Given the description of an element on the screen output the (x, y) to click on. 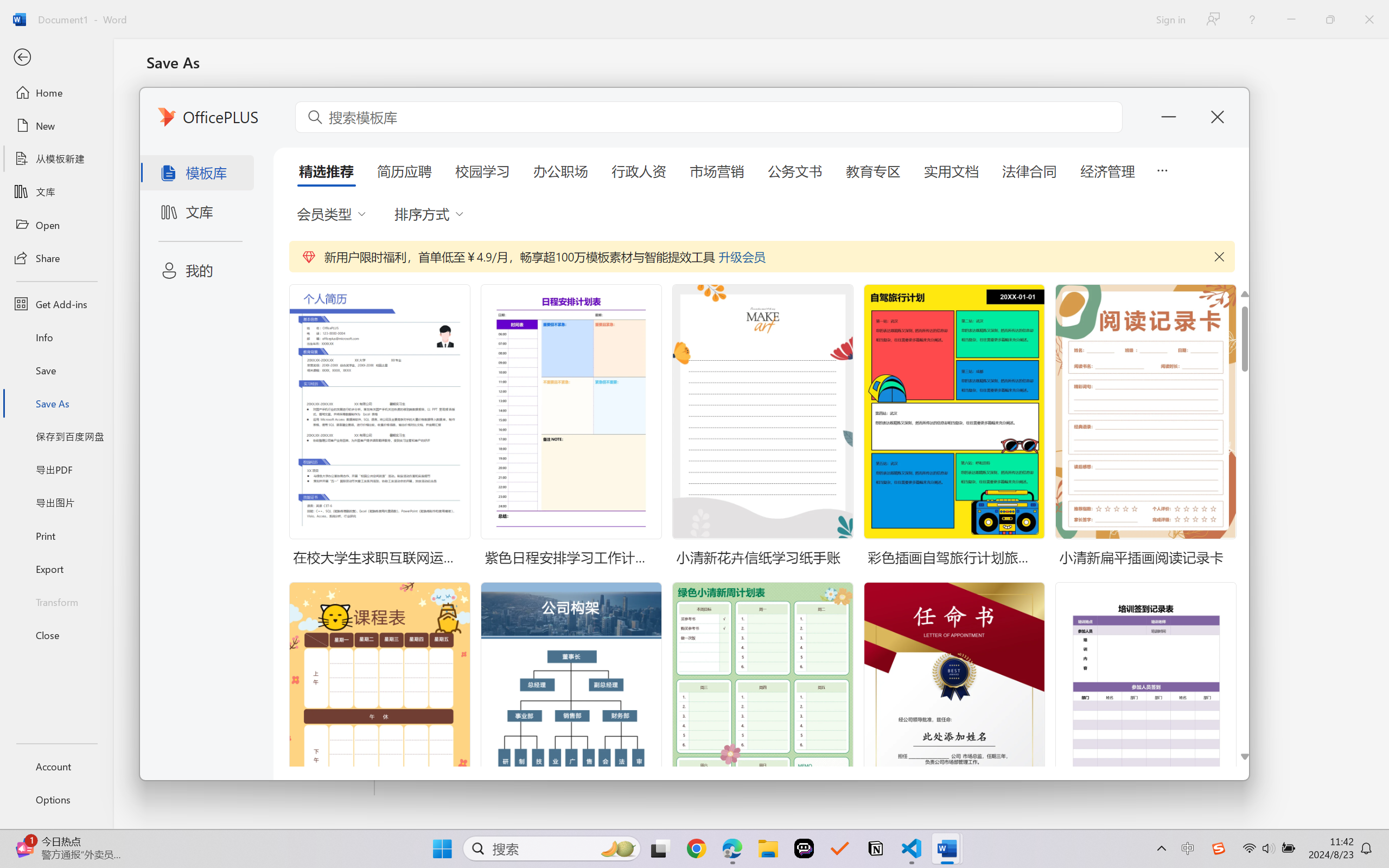
Back (56, 57)
Sign in (1170, 18)
